Given the description of an element on the screen output the (x, y) to click on. 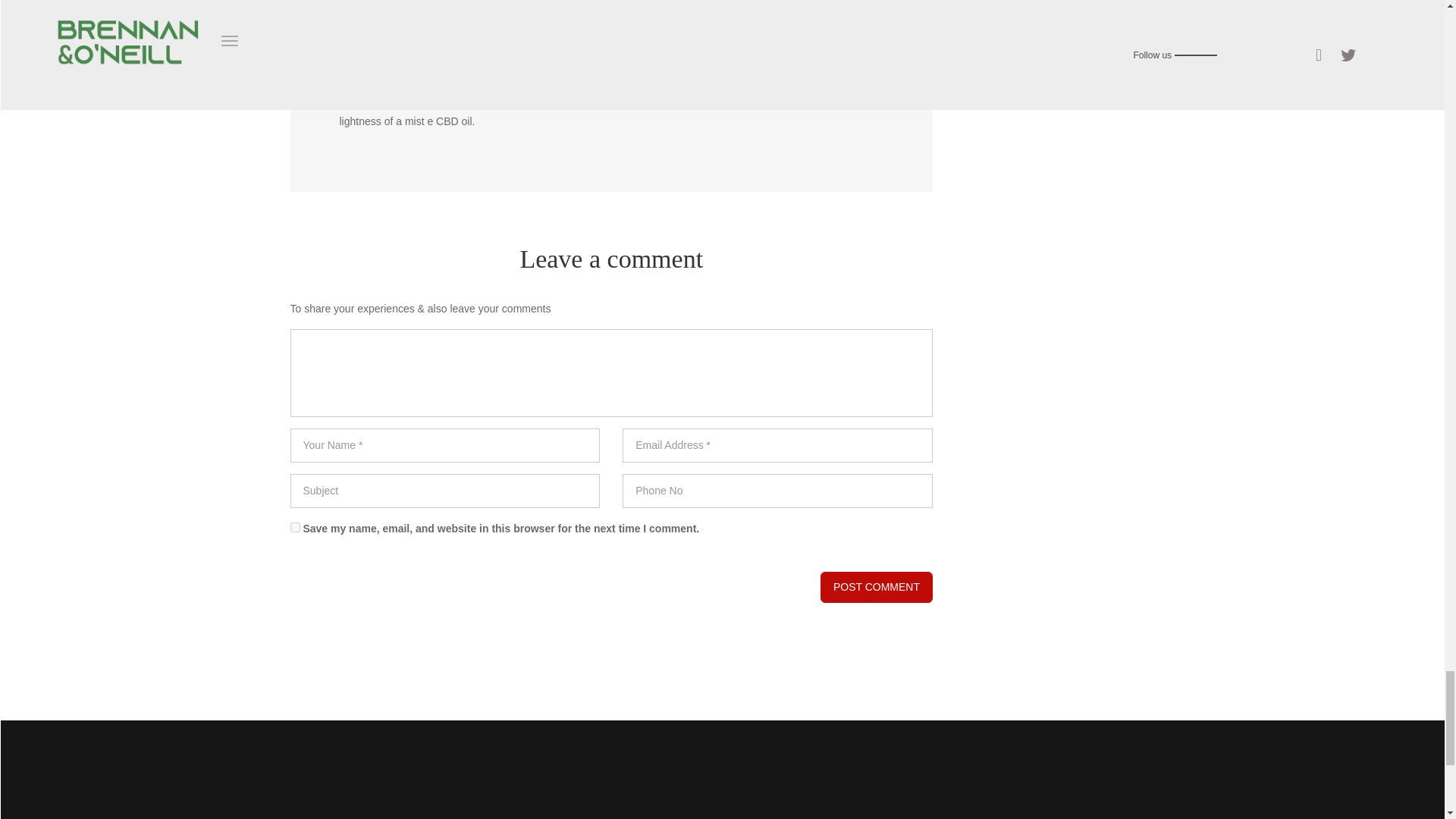
Post Comment (877, 586)
Post Comment (877, 586)
yes (294, 527)
